Given the description of an element on the screen output the (x, y) to click on. 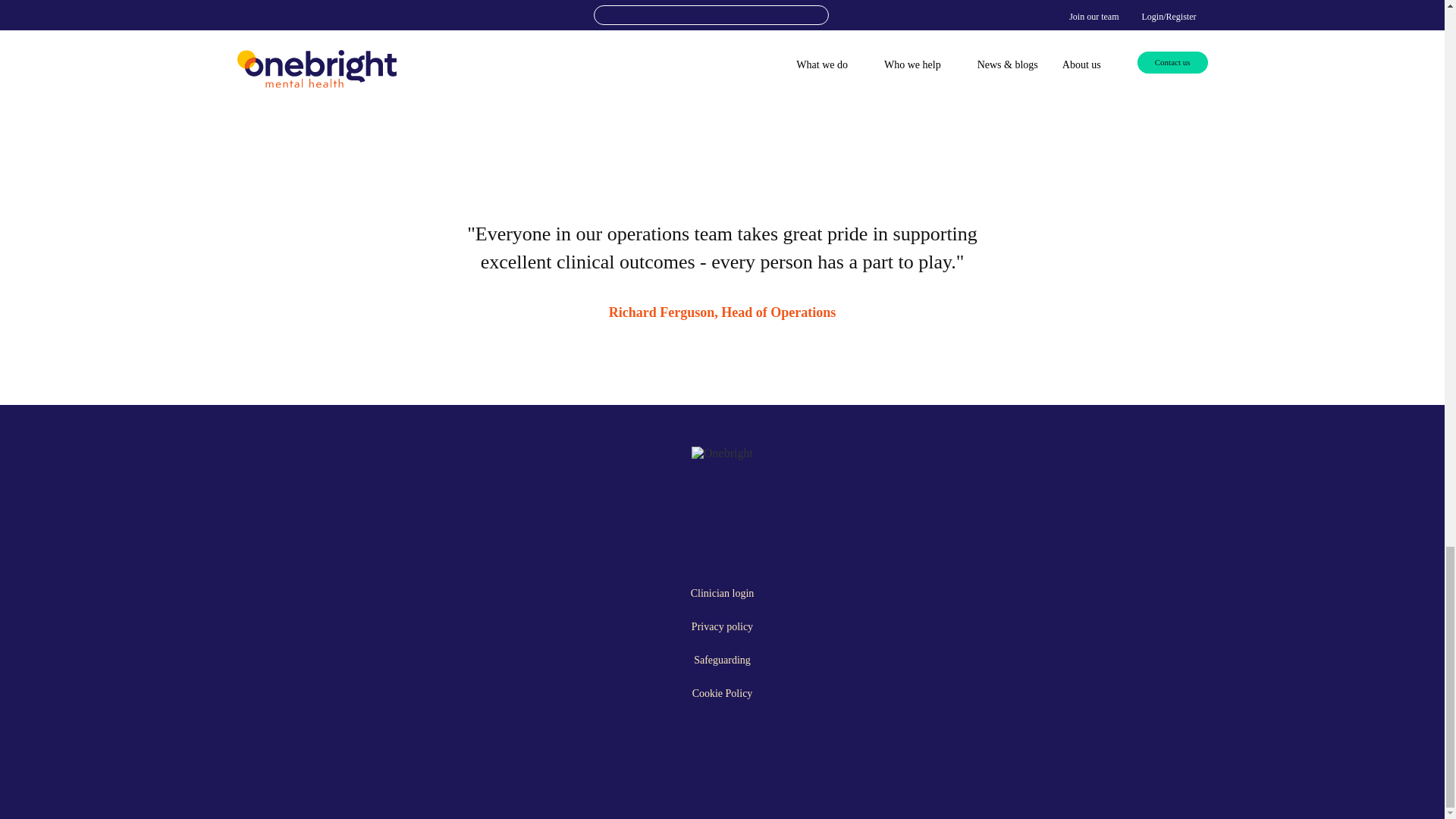
Onebright (721, 453)
